Given the description of an element on the screen output the (x, y) to click on. 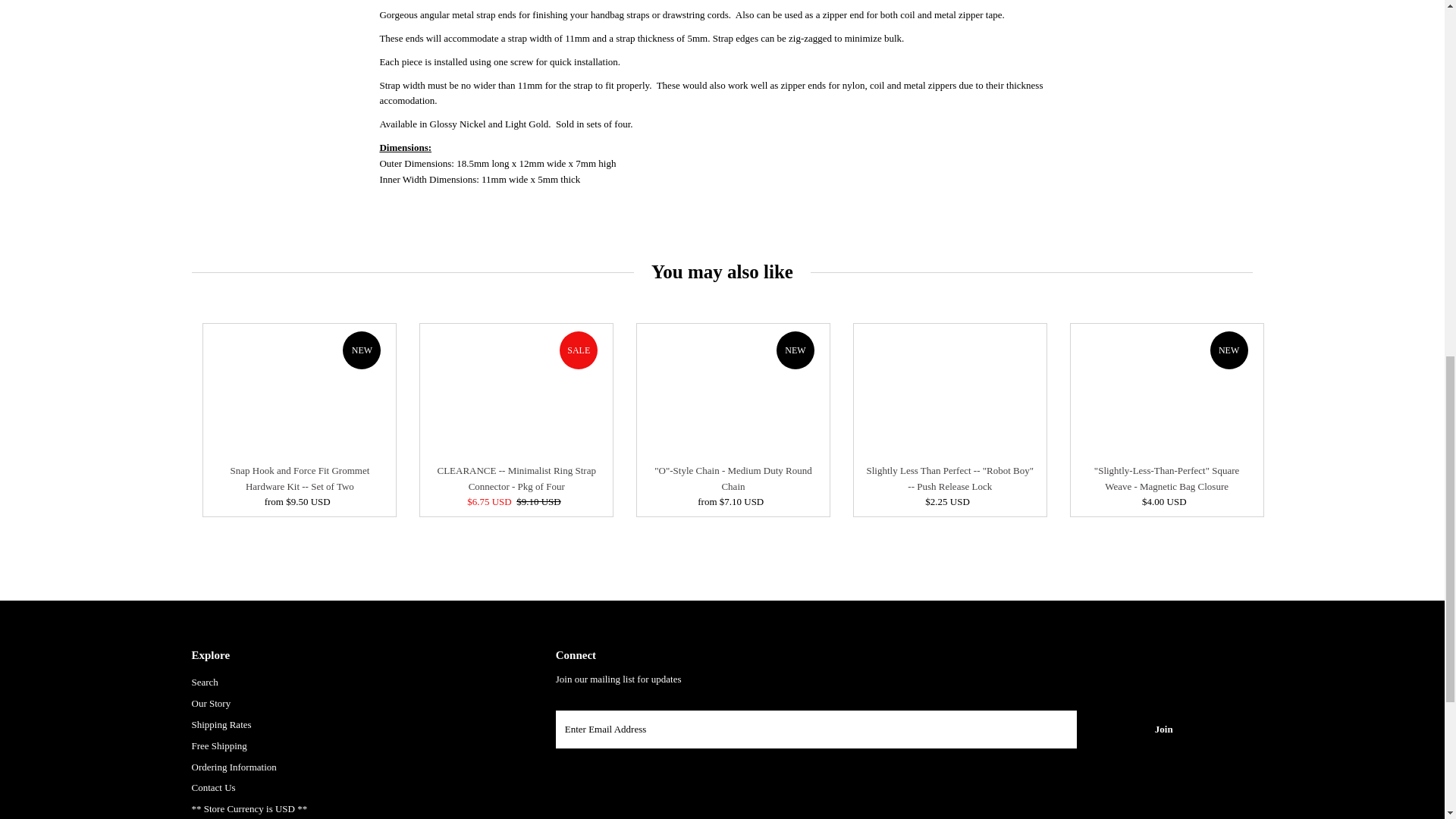
Snap Hook and Force Fit Grommet Hardware Kit -- Set of Two (299, 390)
Join (1163, 729)
"O"-Style Chain - Medium Duty Round Chain (733, 390)
CLEARANCE -- Minimalist Ring Strap Connector - Pkg of Four (516, 390)
